Given the description of an element on the screen output the (x, y) to click on. 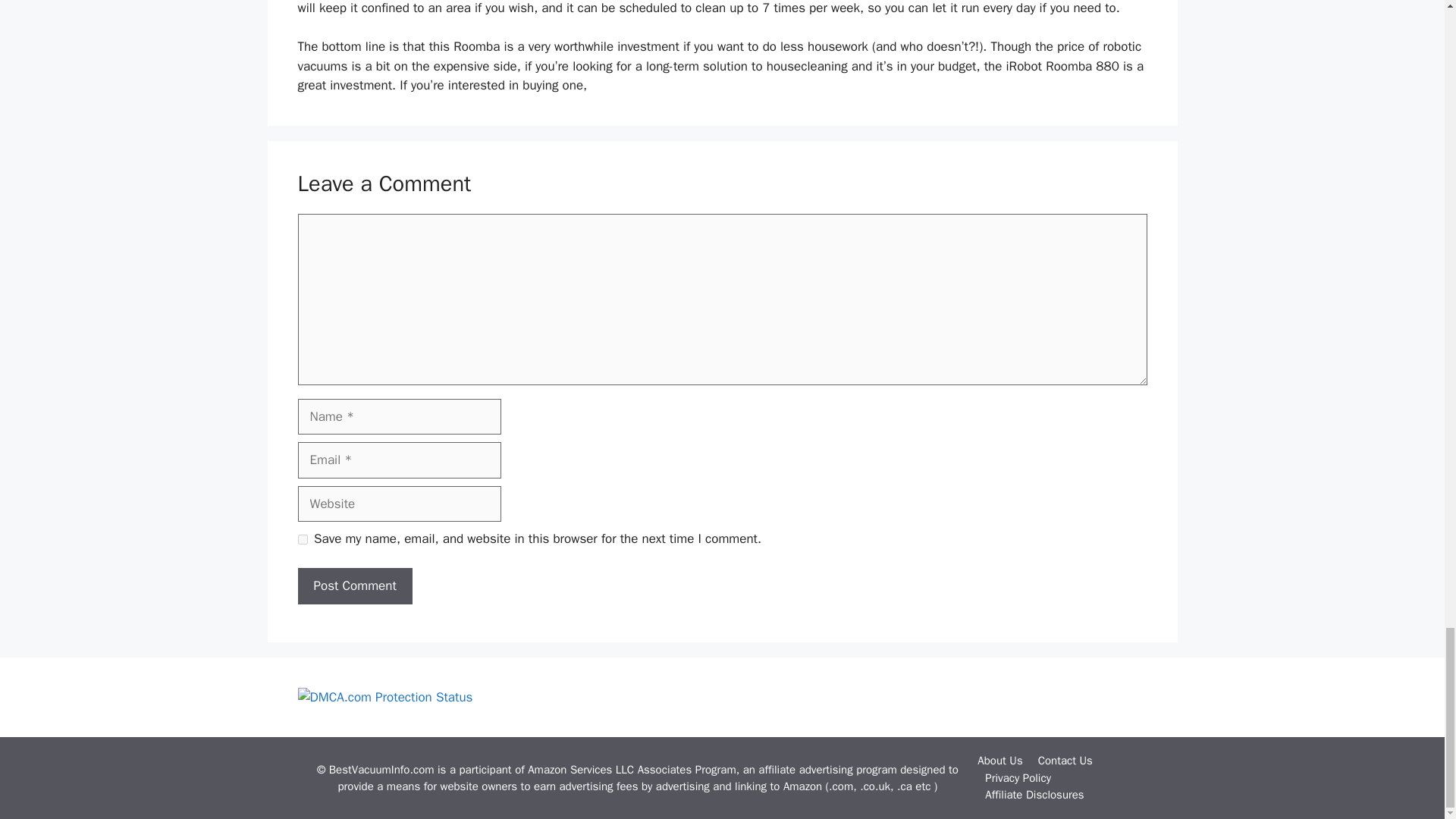
About Us (999, 760)
Contact Us (1065, 760)
Affiliate Disclosures (1034, 794)
DMCA.com Protection Status (384, 697)
Privacy Policy (1018, 777)
Post Comment (354, 586)
Post Comment (354, 586)
yes (302, 539)
